Given the description of an element on the screen output the (x, y) to click on. 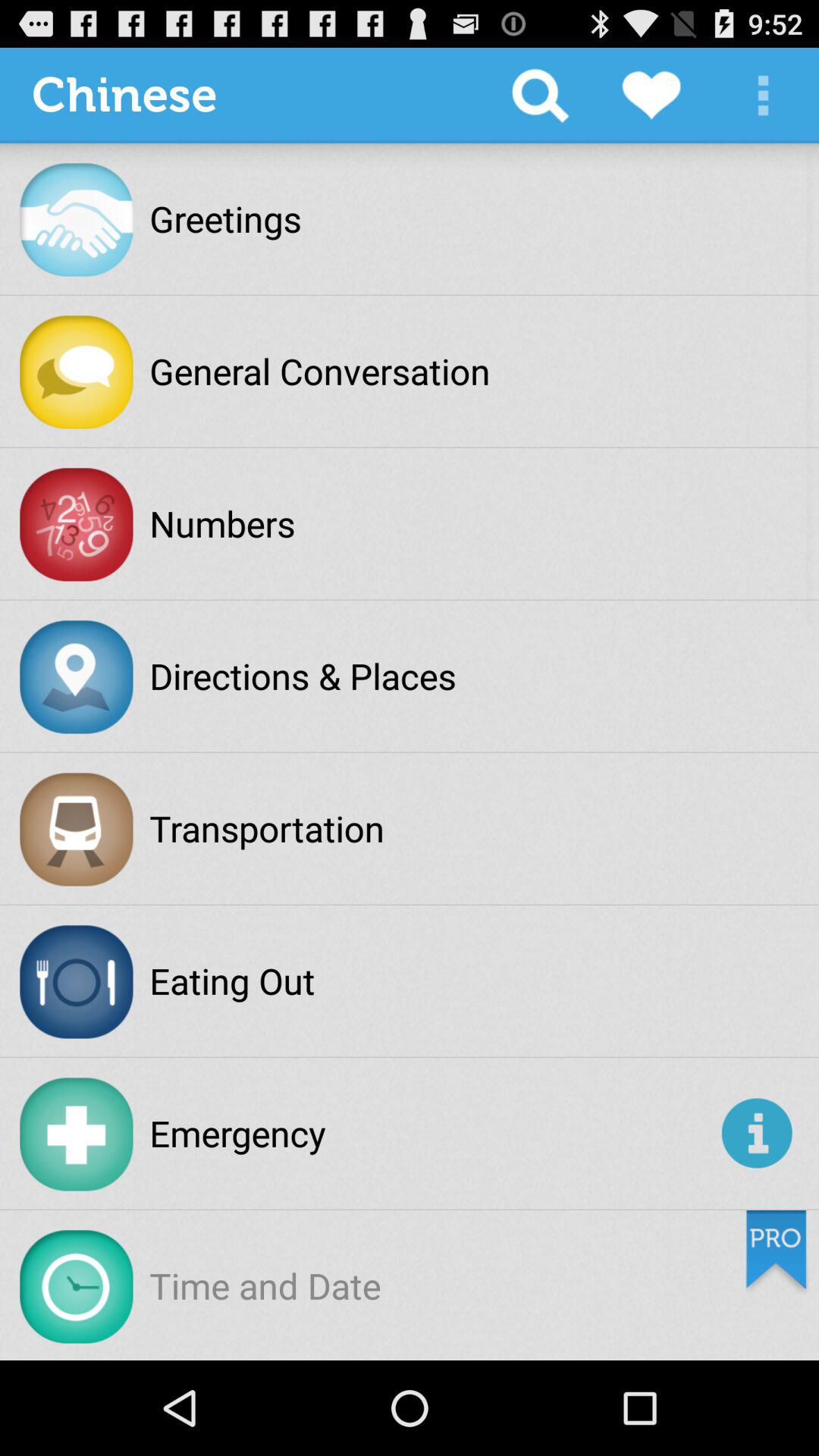
scroll to general conversation app (319, 370)
